Given the description of an element on the screen output the (x, y) to click on. 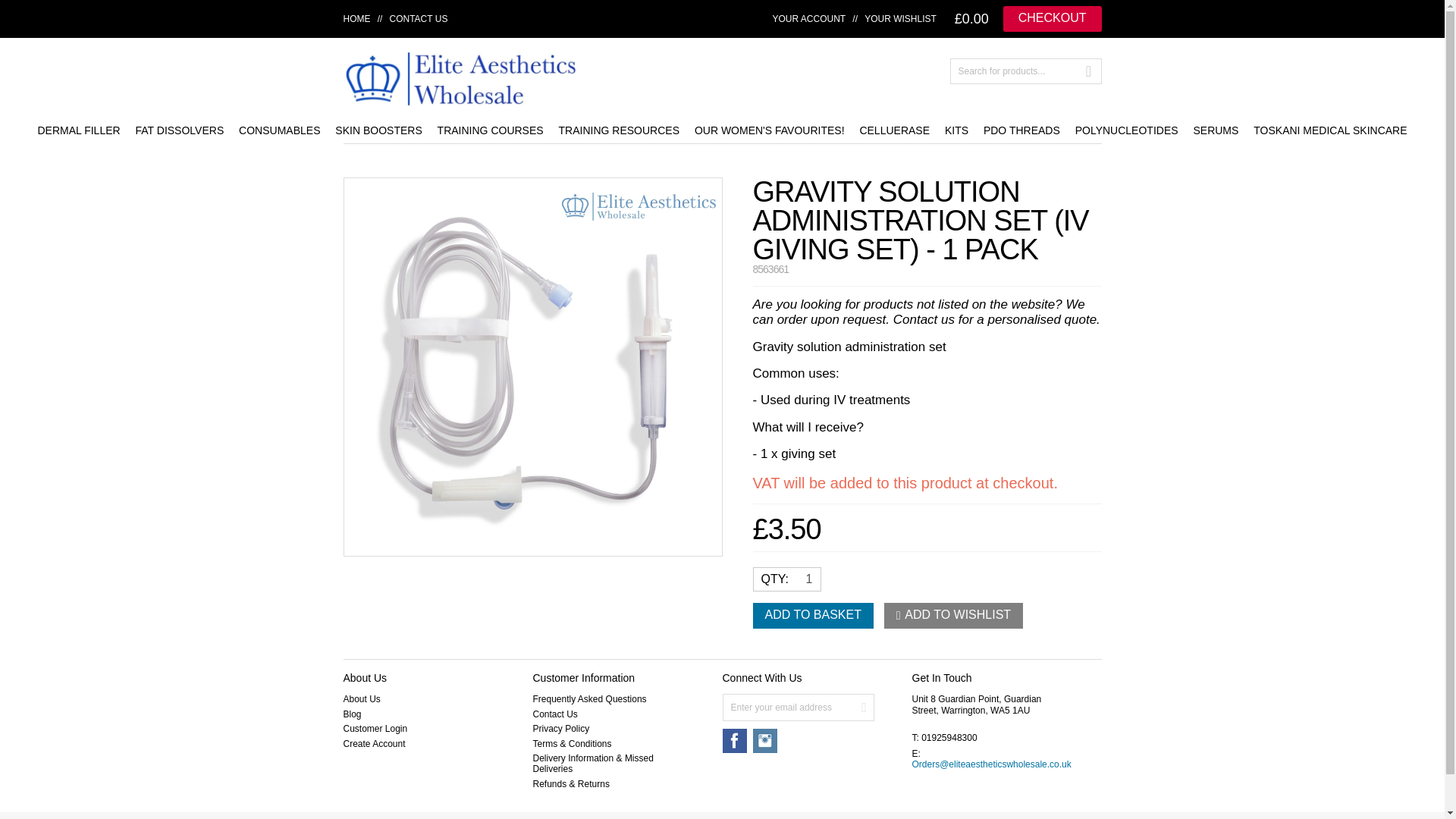
YOUR ACCOUNT (809, 18)
FAT DISSOLVERS (179, 130)
1 (802, 579)
CONSUMABLES (279, 130)
CONTACT US (419, 18)
DERMAL FILLER (77, 130)
HOME (355, 18)
CHECKOUT (1052, 18)
YOUR WISHLIST (900, 18)
